Given the description of an element on the screen output the (x, y) to click on. 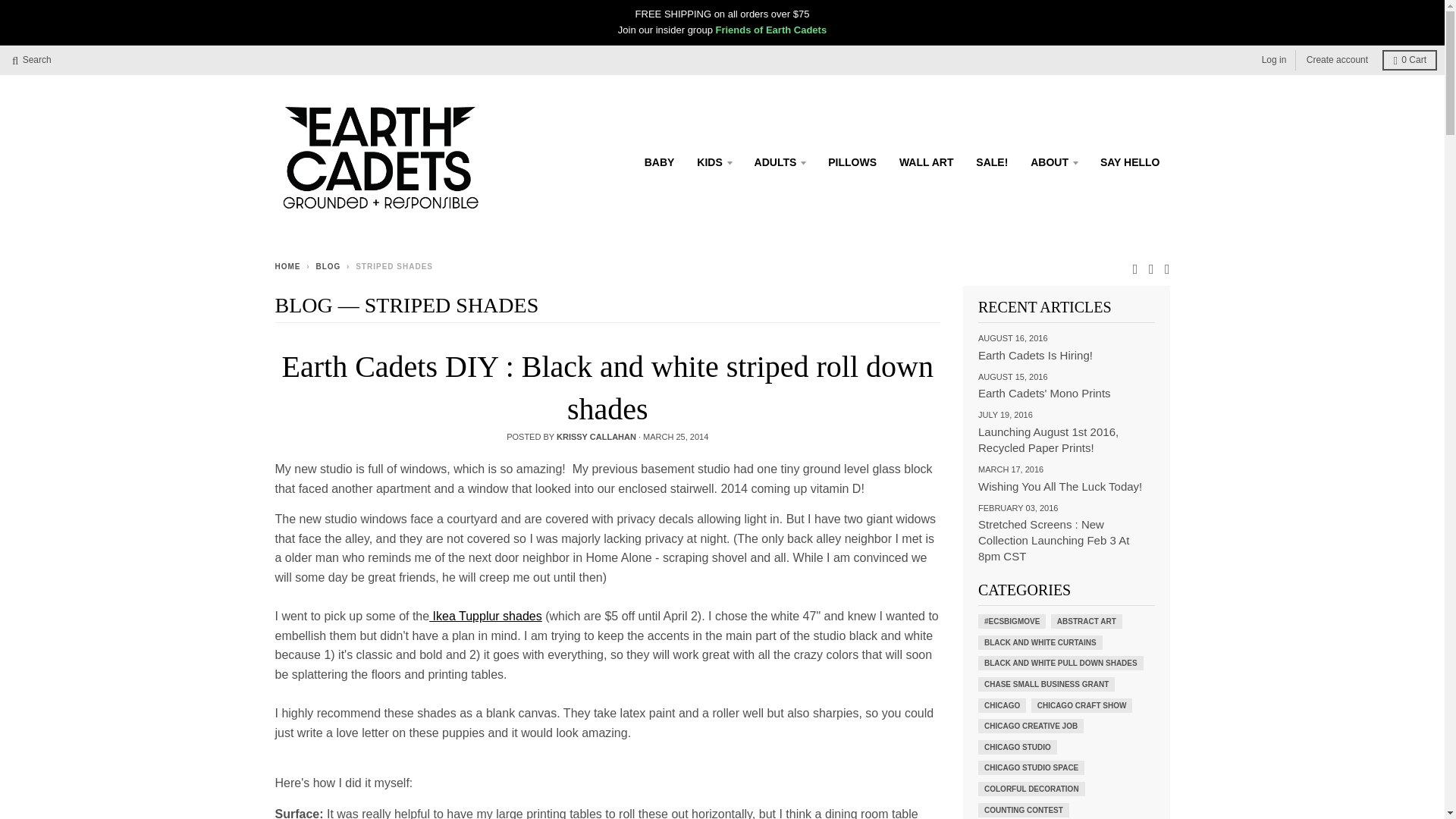
KIDS (714, 162)
ADULTS (779, 162)
SALE! (991, 162)
Friends of Earth Cadets (771, 30)
BABY (659, 162)
BLOG (327, 266)
SAY HELLO (1130, 162)
Search (31, 59)
BLOG (303, 304)
Create account (1337, 59)
Back to the frontpage (287, 266)
0 Cart (1409, 59)
ABOUT (1053, 162)
WALL ART (926, 162)
PILLOWS (852, 162)
